Given the description of an element on the screen output the (x, y) to click on. 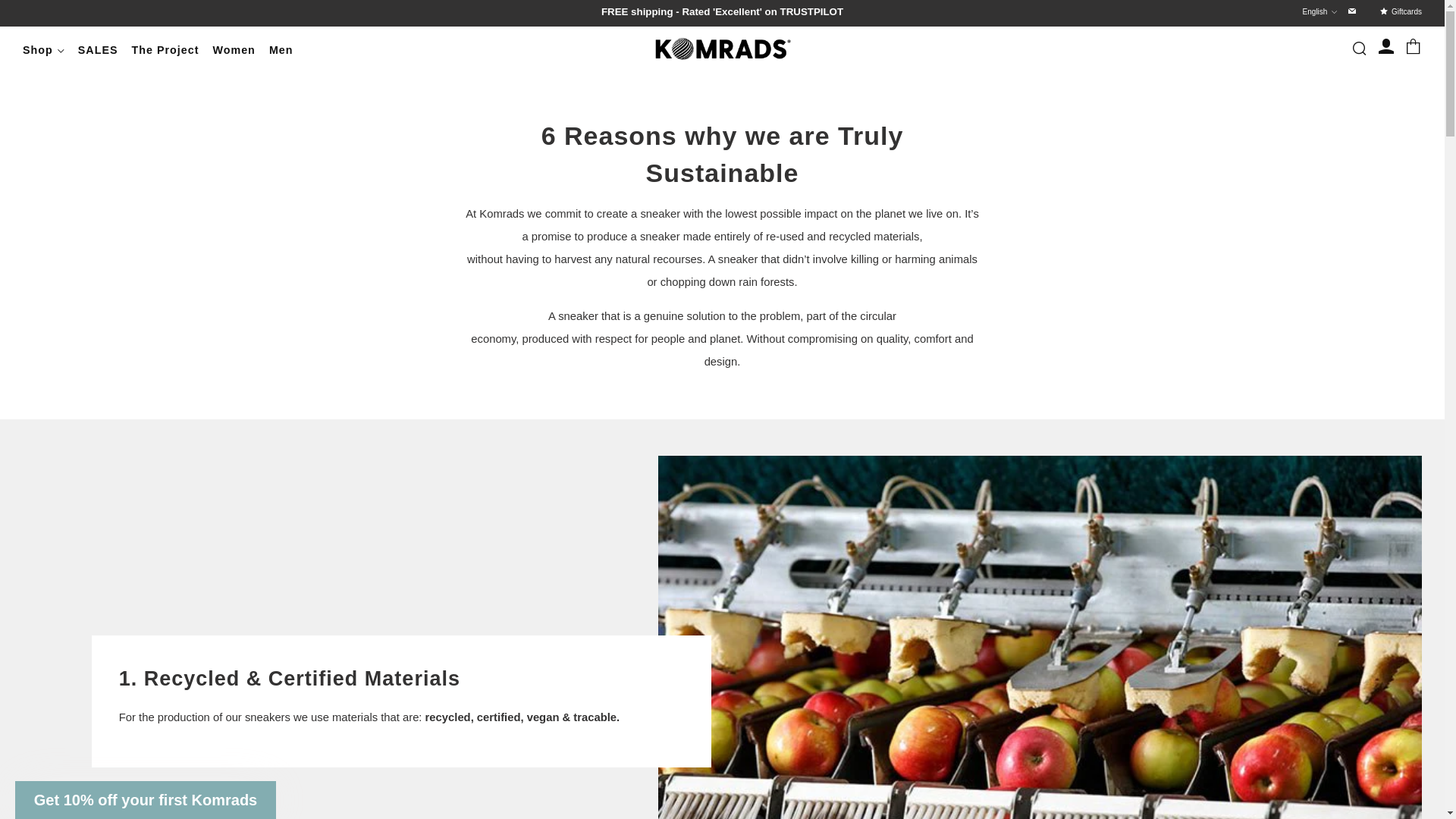
English (1320, 12)
FREE shipping - Rated 'Excellent' on TRUSTPILOT (722, 11)
Shop (43, 49)
Giftcards (1406, 11)
